Given the description of an element on the screen output the (x, y) to click on. 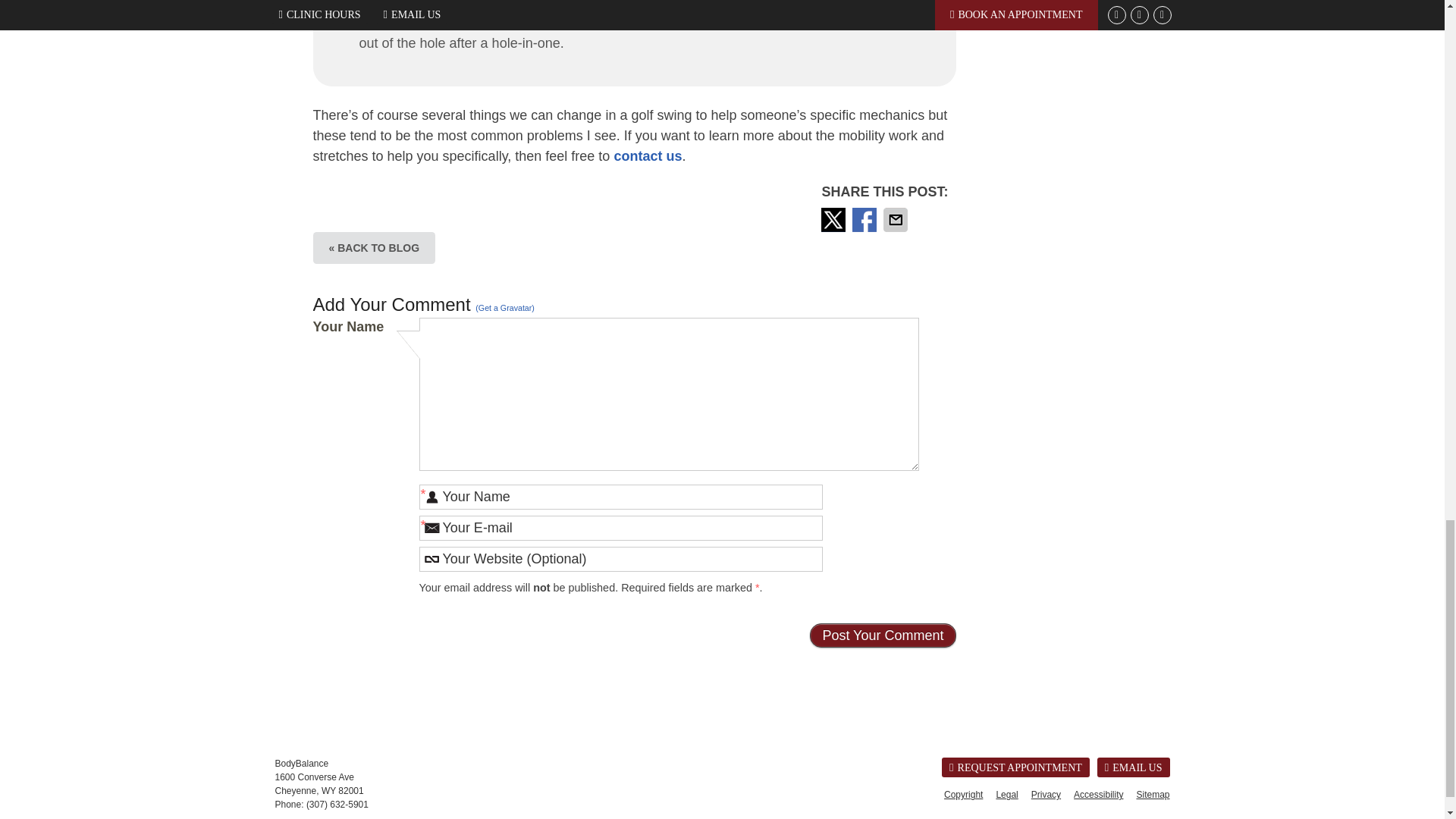
this video (752, 4)
Contact (1133, 767)
contact us (646, 155)
Your E-mail (620, 527)
Your E-mail (620, 527)
Contact Us (646, 155)
Your Name (620, 496)
Footer Links (1053, 793)
Post Your Comment (882, 635)
Your Name (620, 496)
